Given the description of an element on the screen output the (x, y) to click on. 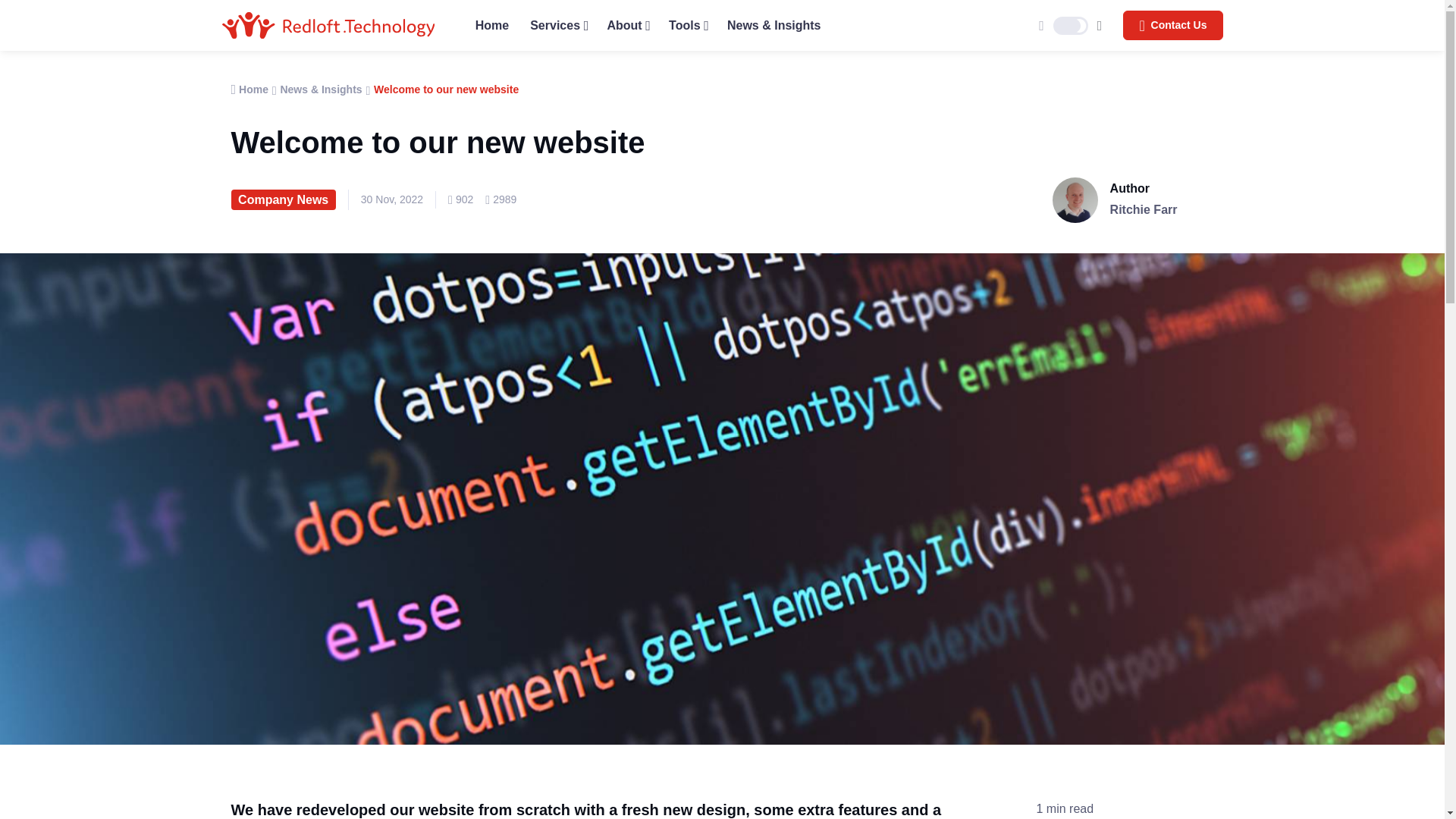
Home (491, 25)
 Contact Us (1172, 25)
Home (248, 89)
Company News (282, 199)
About (626, 25)
Services (557, 25)
on (1069, 25)
Tools (687, 25)
